Given the description of an element on the screen output the (x, y) to click on. 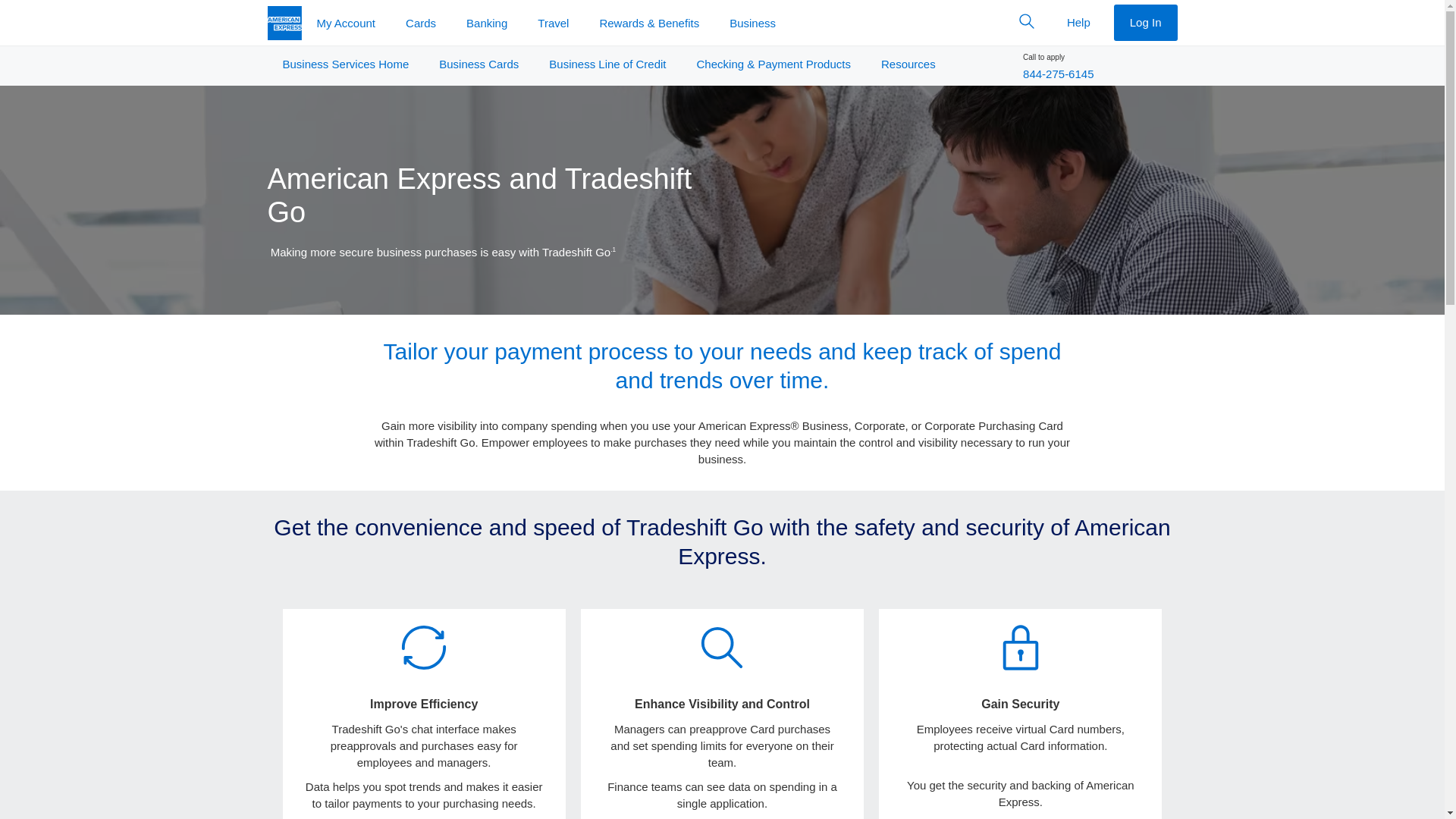
processing (423, 647)
Search (1026, 21)
lock (1020, 647)
processing (423, 648)
844-275-6145 (1058, 73)
search (721, 647)
lock (1020, 648)
Homepage (283, 22)
